Given the description of an element on the screen output the (x, y) to click on. 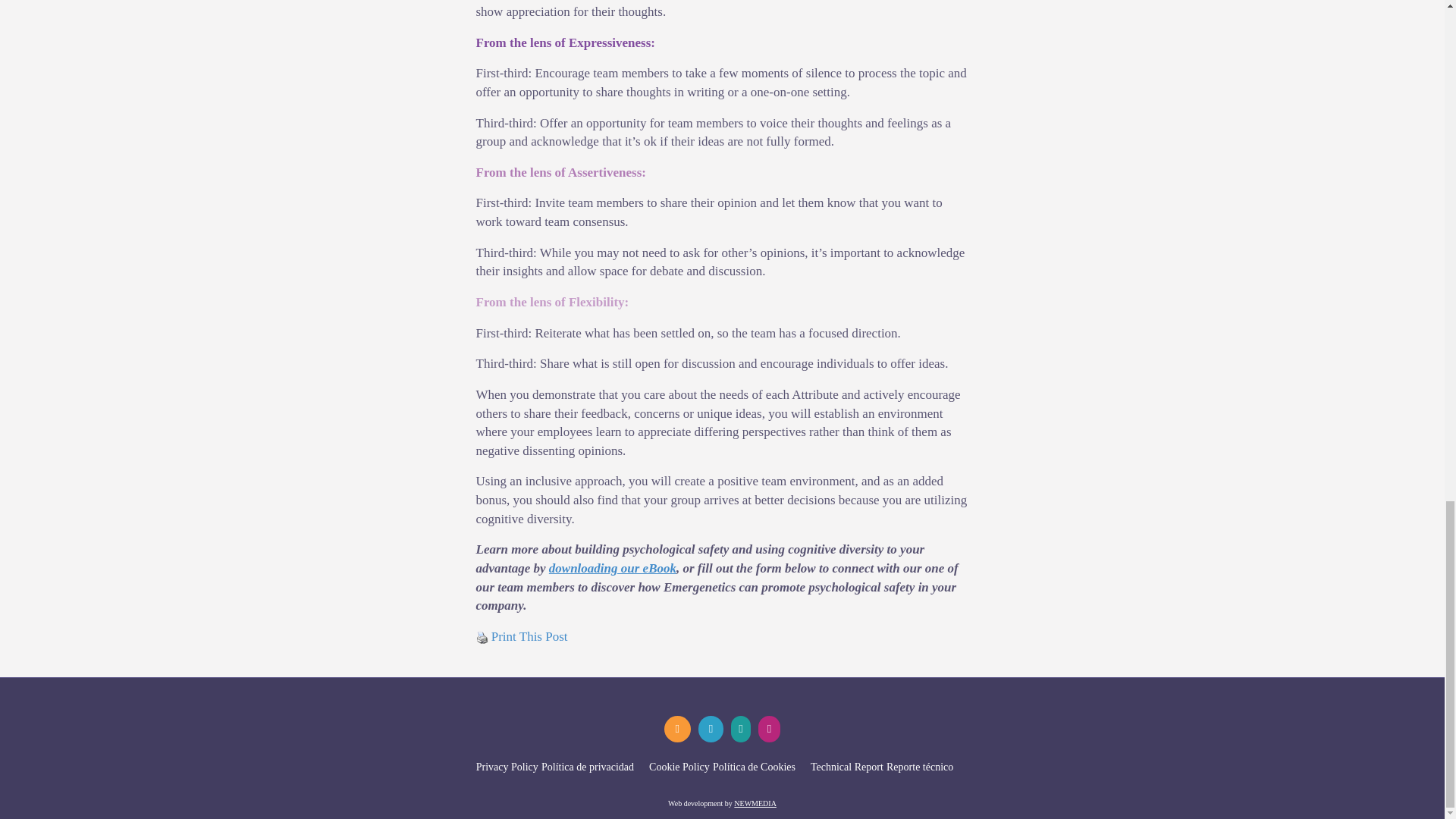
Print This Post (529, 636)
Print This Post (481, 637)
